Given the description of an element on the screen output the (x, y) to click on. 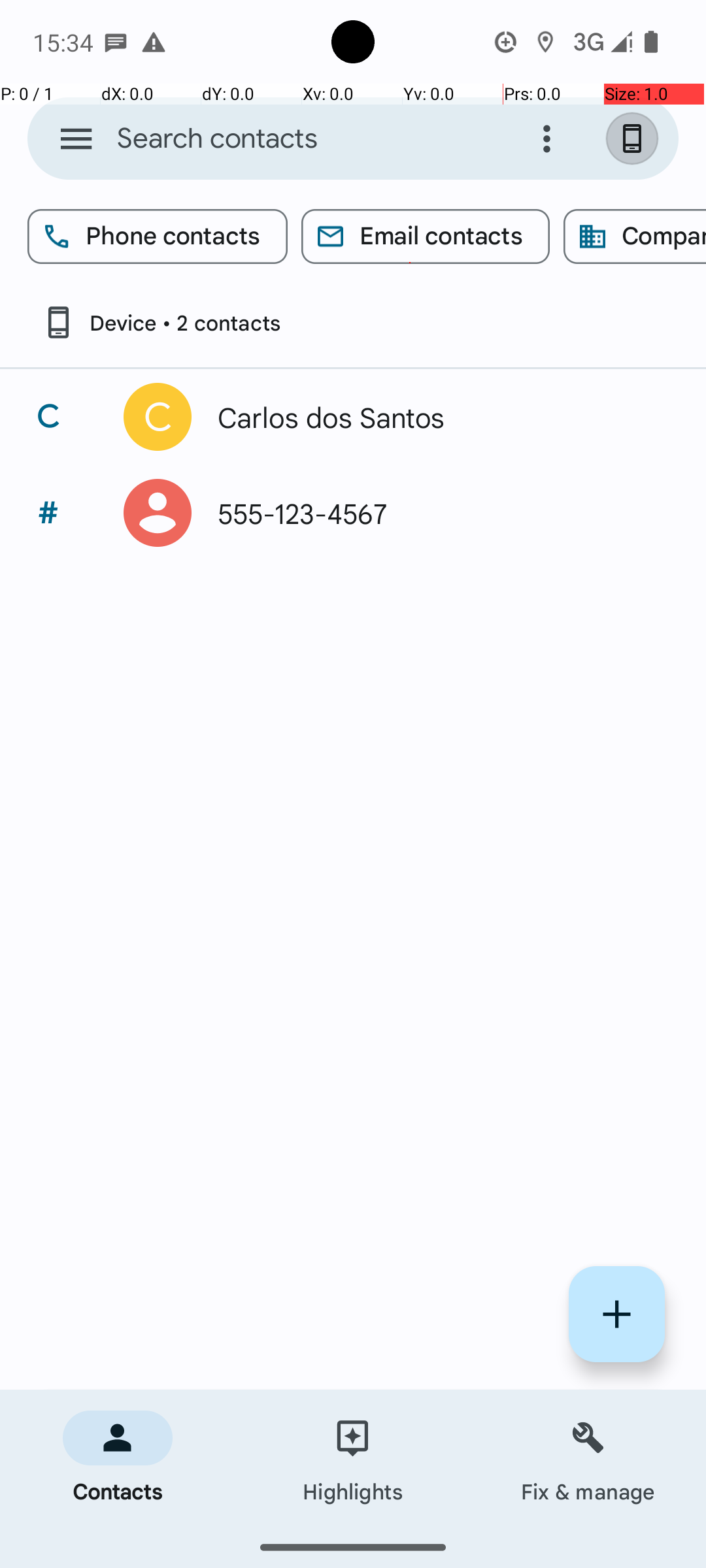
Device • 2 contacts Element type: android.widget.TextView (161, 322)
Carlos dos Santos Element type: android.widget.TextView (434, 416)
555-123-4567 Element type: android.widget.TextView (434, 512)
